Given the description of an element on the screen output the (x, y) to click on. 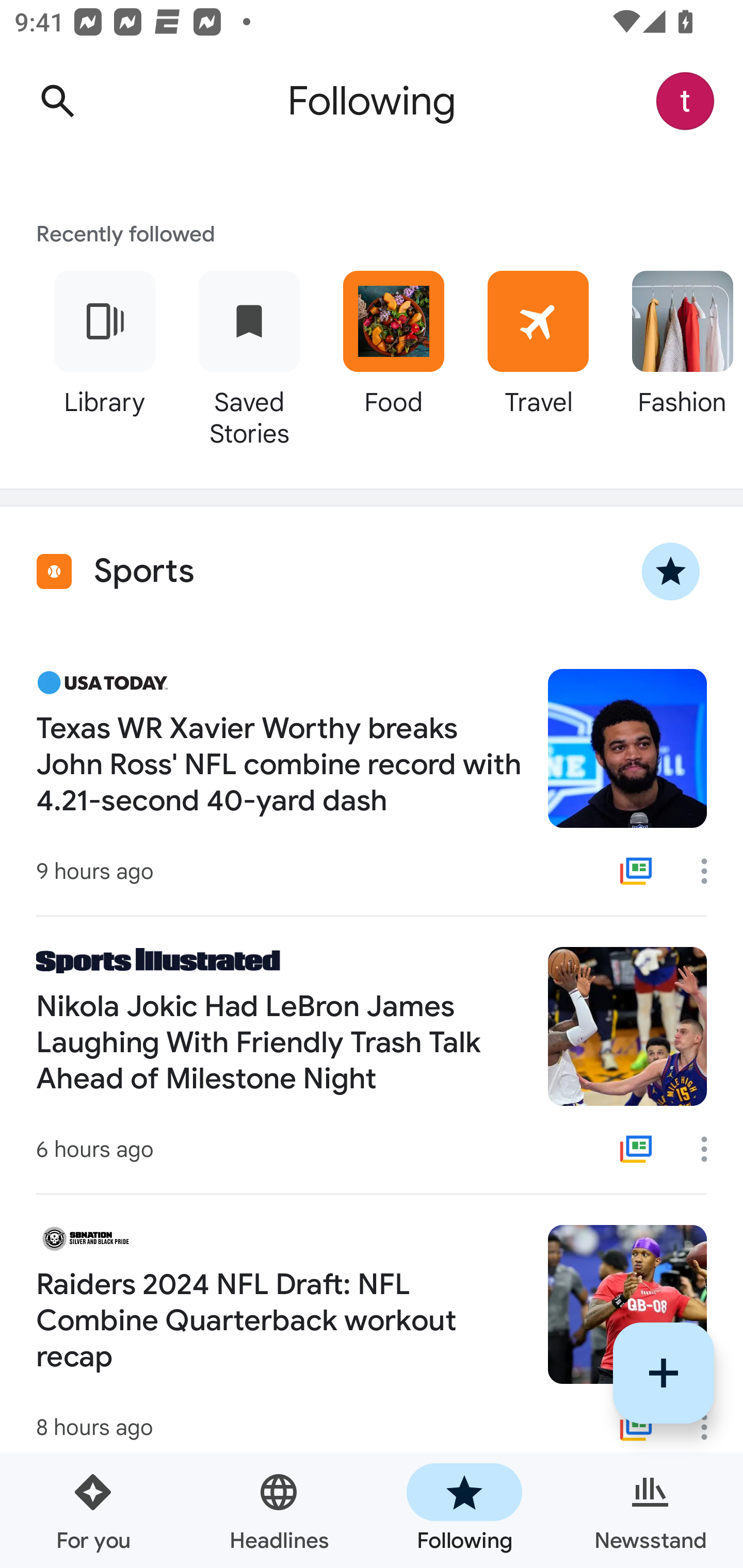
Search (57, 100)
Library (104, 355)
Saved Stories (248, 355)
Food (393, 355)
Travel (537, 355)
Fashion (676, 355)
Sports Sports Unfollow (371, 571)
Unfollow (670, 571)
More options (711, 870)
More options (711, 1149)
Follow (663, 1372)
More options (711, 1426)
For you (92, 1509)
Headlines (278, 1509)
Following (464, 1509)
Newsstand (650, 1509)
